Given the description of an element on the screen output the (x, y) to click on. 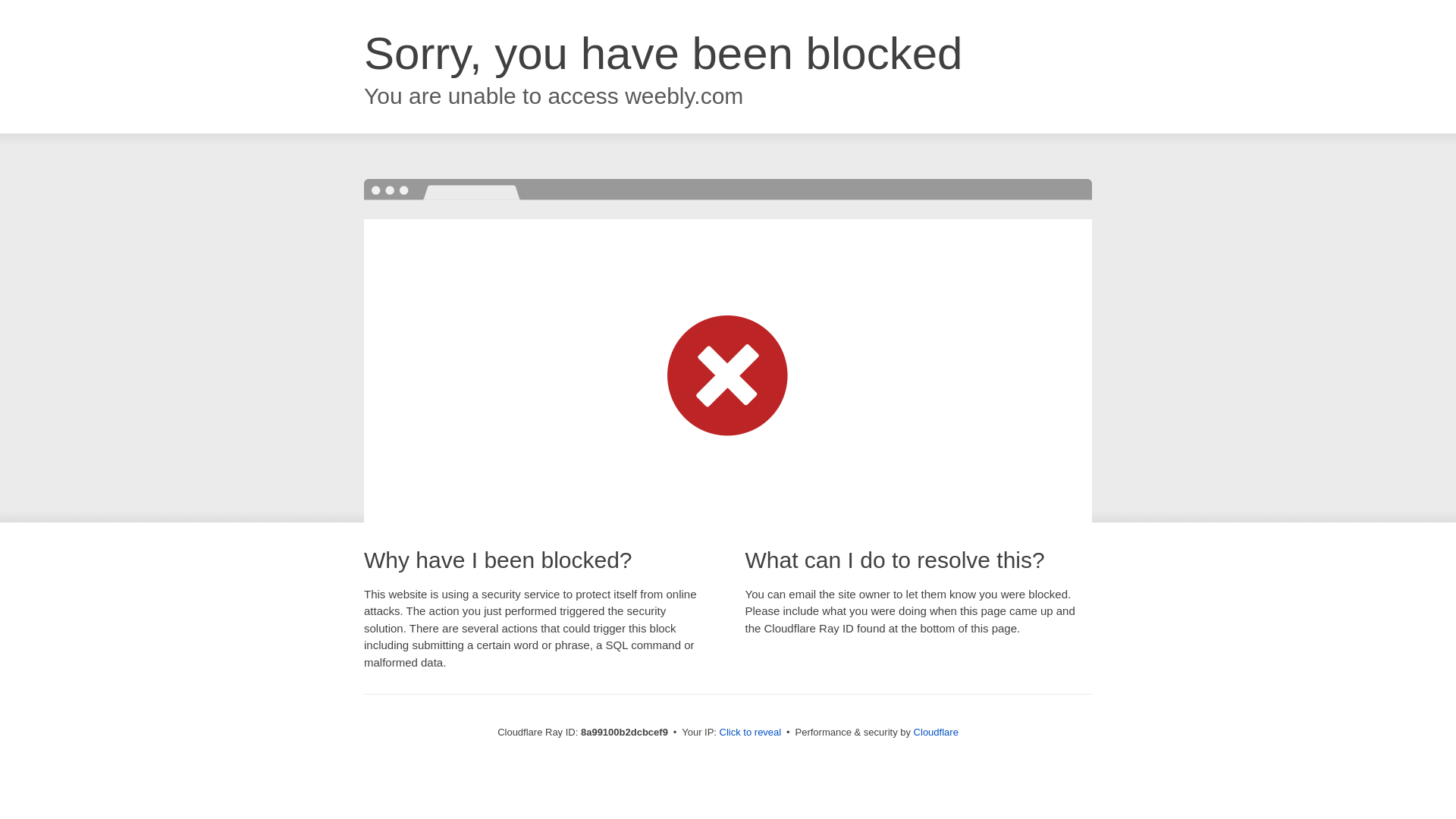
Cloudflare (936, 731)
Click to reveal (750, 732)
